Given the description of an element on the screen output the (x, y) to click on. 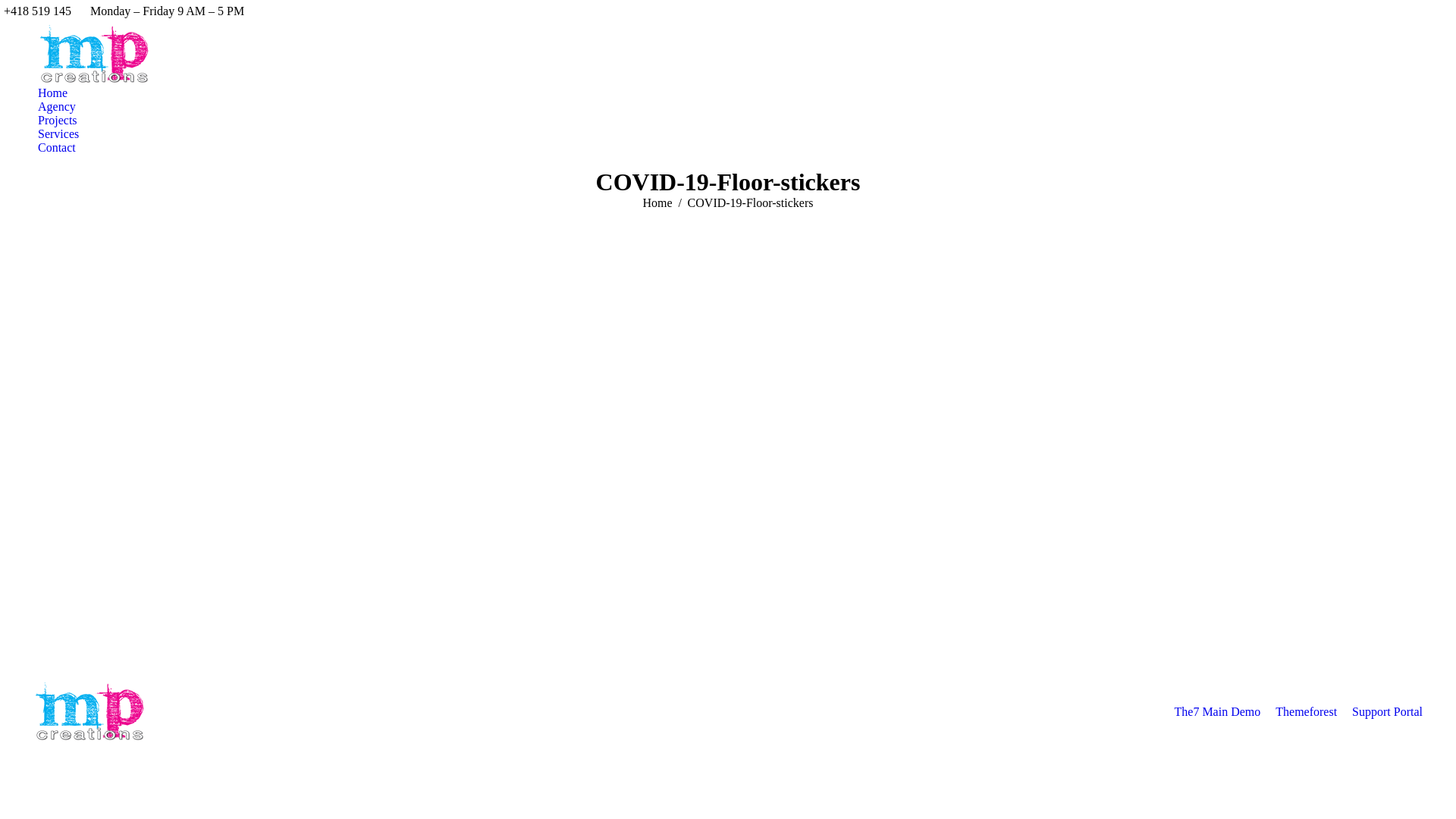
Go! Element type: text (11, 8)
Instagram page opens in new window Element type: text (1421, 11)
Twitter page opens in new window Element type: text (1398, 11)
YouTube page opens in new window Element type: text (1444, 11)
Facebook page opens in new window Element type: text (1376, 11)
Support Portal Element type: text (1387, 711)
Agency Element type: text (56, 106)
Services Element type: text (57, 134)
Home Element type: text (52, 93)
Contact Element type: text (56, 147)
Projects Element type: text (57, 120)
Themeforest Element type: text (1305, 711)
Home Element type: text (657, 202)
The7 Main Demo Element type: text (1216, 711)
